Given the description of an element on the screen output the (x, y) to click on. 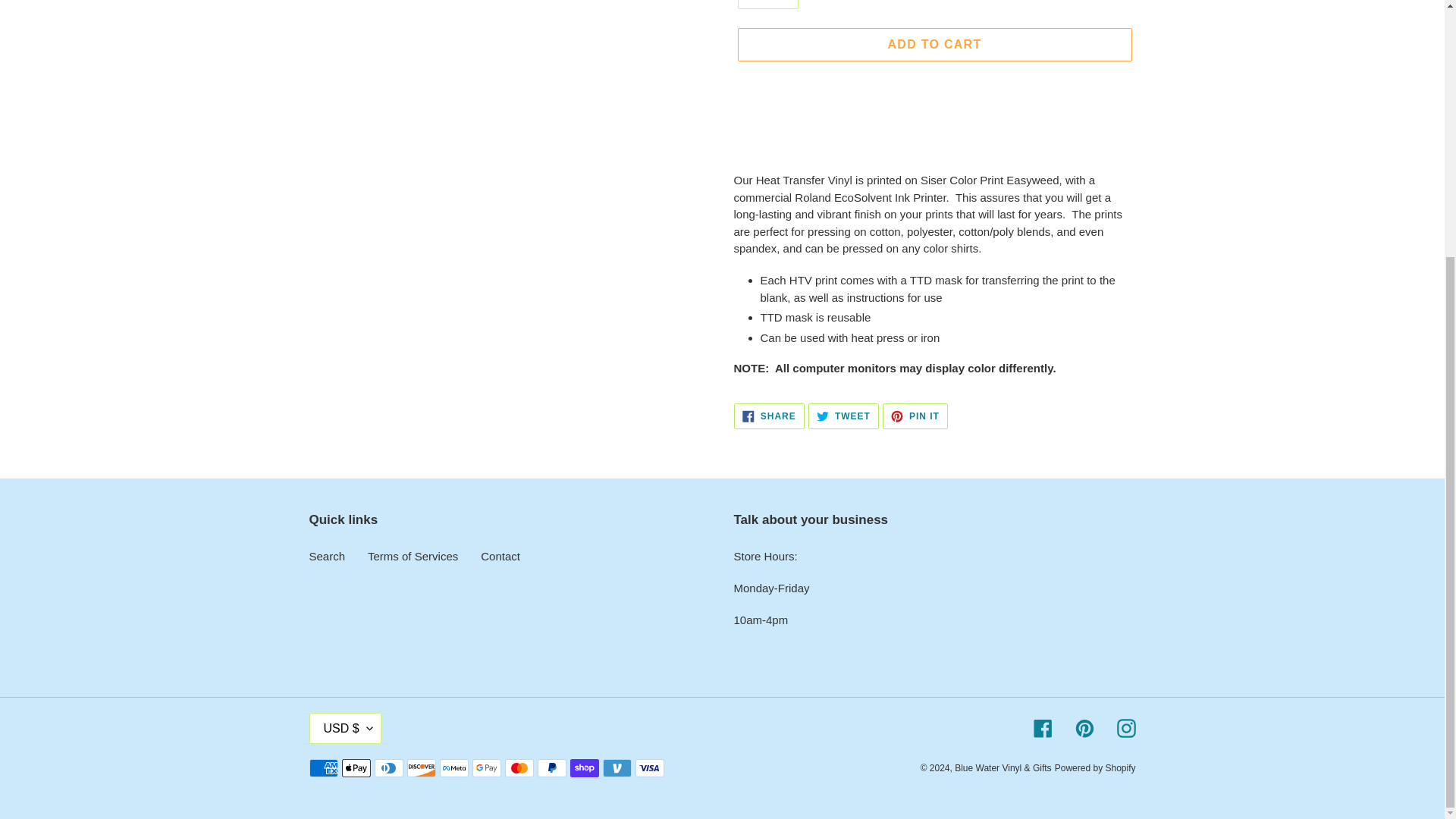
1 (766, 4)
